Given the description of an element on the screen output the (x, y) to click on. 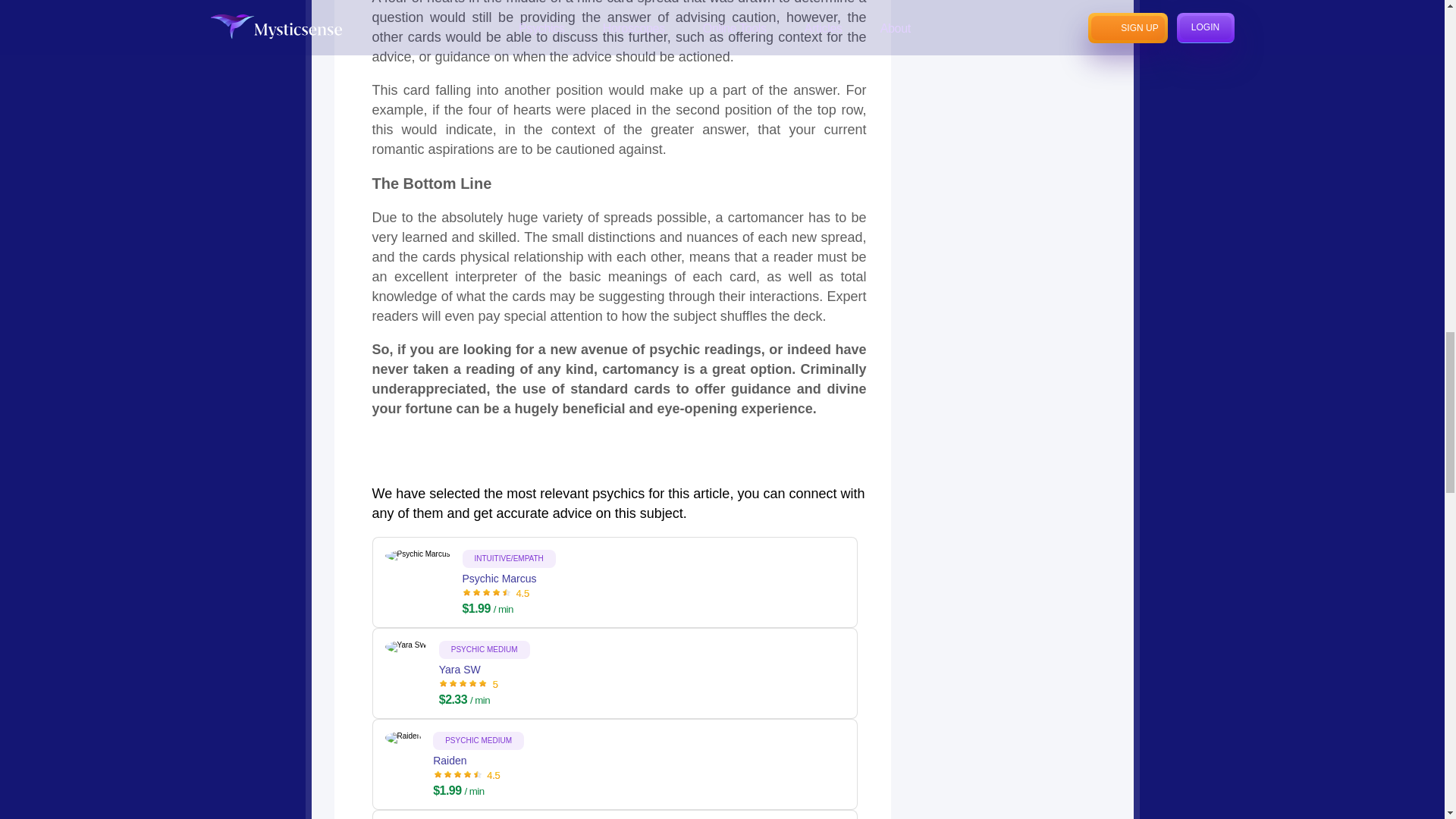
Psychic Marcus (509, 588)
Raiden (478, 770)
Yara SW (484, 679)
